Given the description of an element on the screen output the (x, y) to click on. 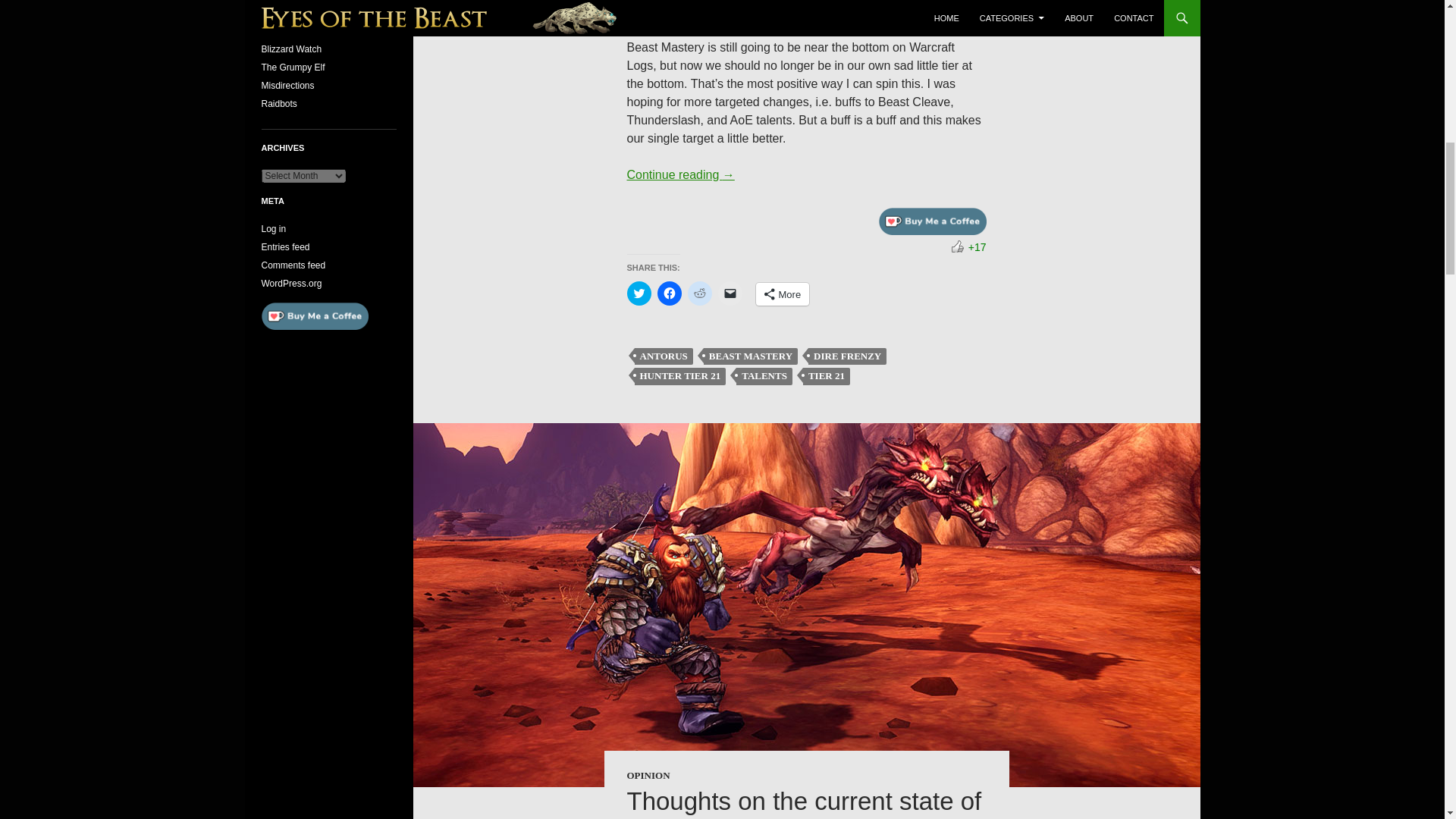
TALENTS (764, 375)
HUNTER TIER 21 (679, 375)
Click to share on Reddit (699, 293)
More (782, 293)
DIRE FRENZY (847, 356)
Hunter Approved! (957, 246)
TIER 21 (826, 375)
OPINION (647, 775)
Click to email a link to a friend (729, 293)
BEAST MASTERY (750, 356)
Click to share on Twitter (638, 293)
Click to share on Facebook (668, 293)
ANTORUS (663, 356)
